Given the description of an element on the screen output the (x, y) to click on. 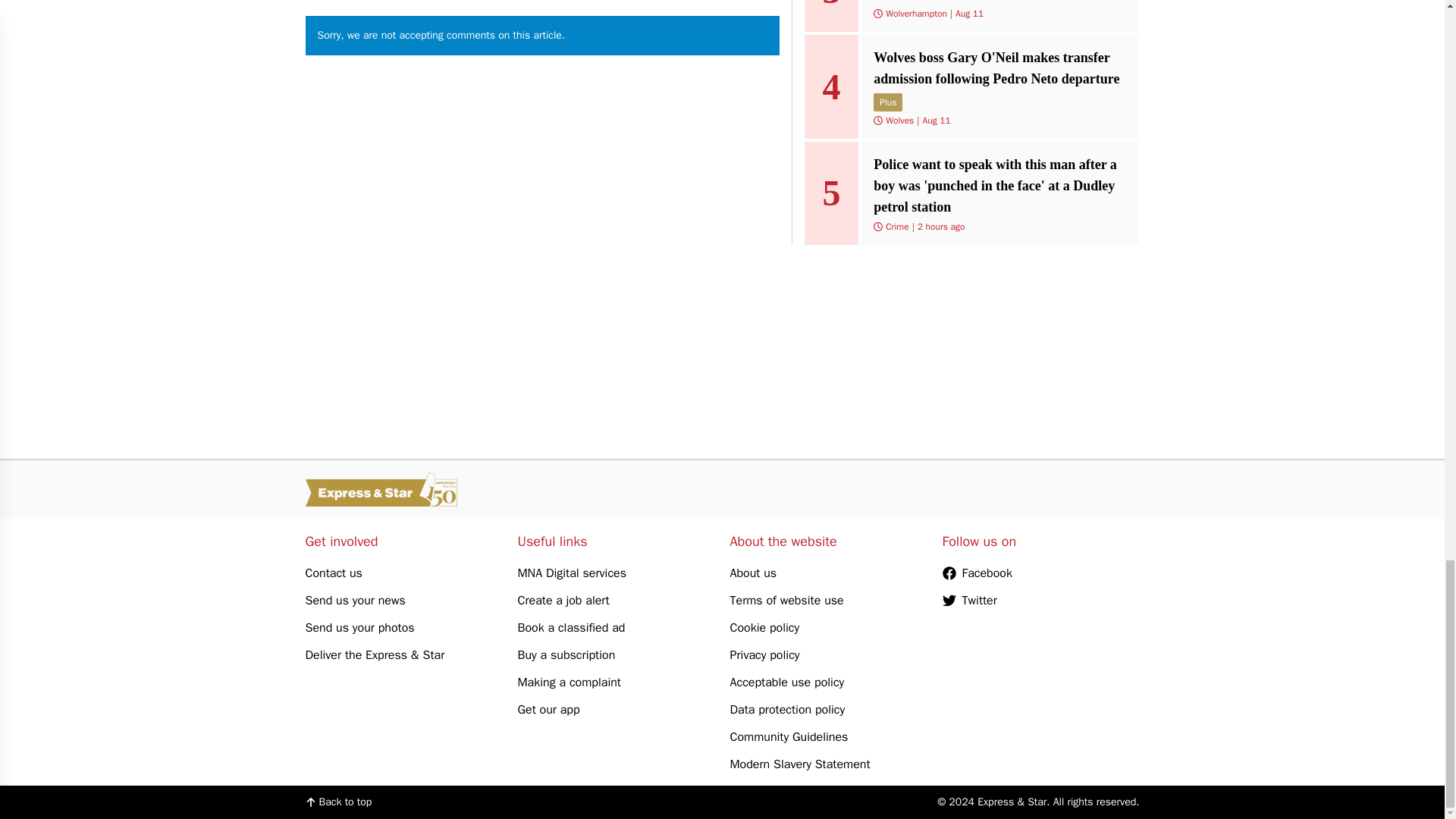
Wolverhampton (916, 13)
Crime (896, 226)
Wolves (899, 120)
